Given the description of an element on the screen output the (x, y) to click on. 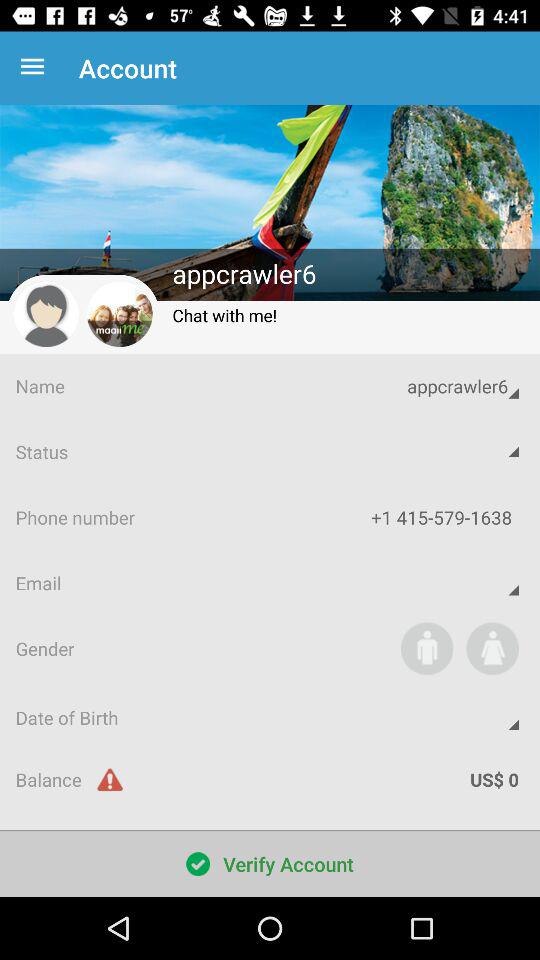
gender is male (426, 648)
